Given the description of an element on the screen output the (x, y) to click on. 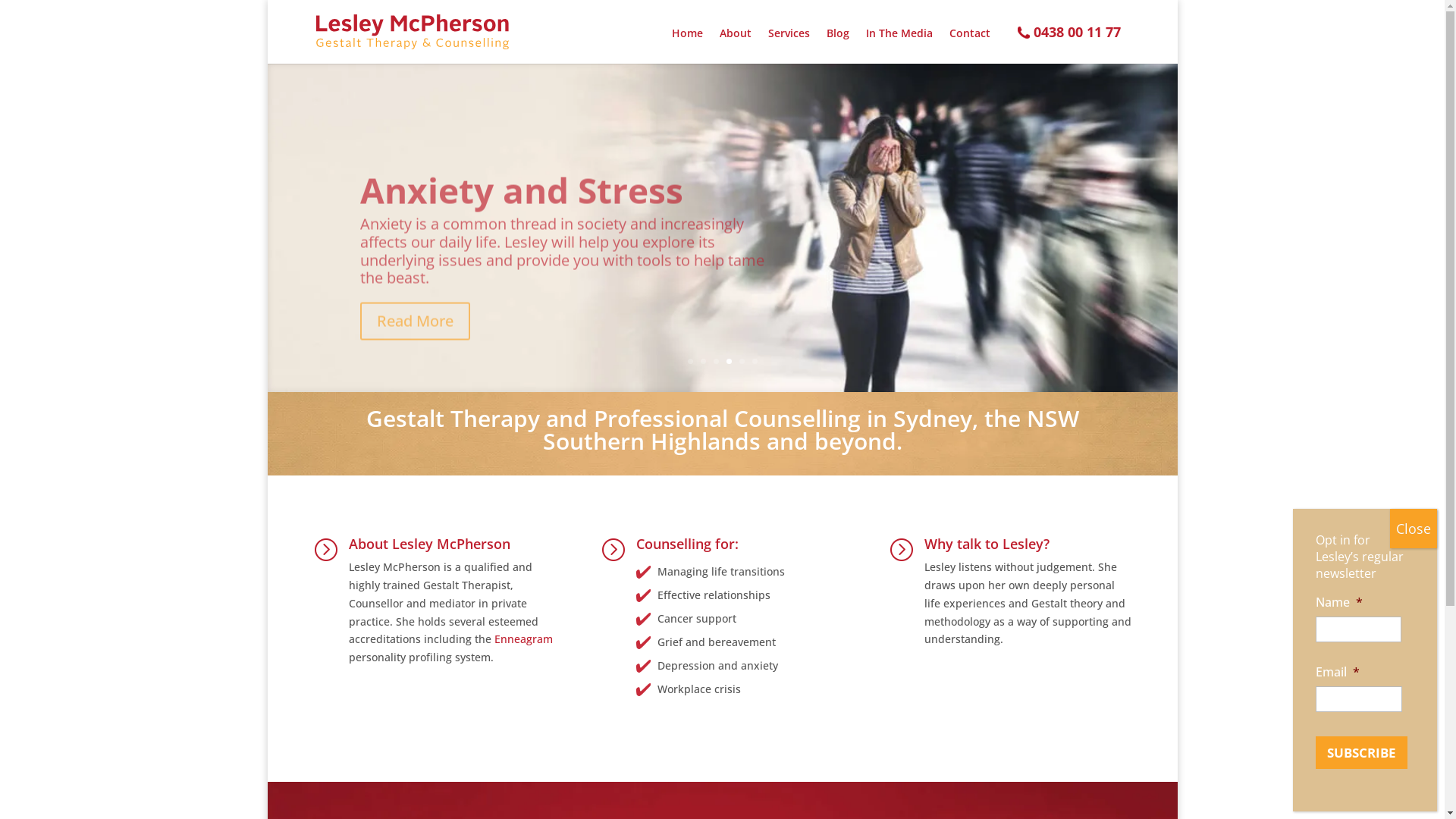
Subscribe Element type: text (1360, 752)
2 Element type: text (703, 361)
Blog Element type: text (837, 45)
= Element type: text (324, 548)
About Lesley McPherson Element type: text (429, 543)
Contact Element type: text (969, 45)
In The Media Element type: text (899, 45)
Close Element type: text (1413, 528)
0438 00 11 77 Element type: text (1076, 44)
Services Element type: text (788, 45)
Counselling for: Element type: text (687, 543)
Home Element type: text (686, 45)
5 Element type: text (740, 361)
6 Element type: text (754, 361)
Why talk to Lesley? Element type: text (986, 543)
1 Element type: text (689, 361)
= Element type: text (900, 548)
4 Element type: text (728, 361)
The Enneagram Element type: text (494, 179)
= Element type: text (612, 548)
Enneagram Element type: text (523, 638)
About Element type: text (734, 45)
3 Element type: text (715, 361)
